Given the description of an element on the screen output the (x, y) to click on. 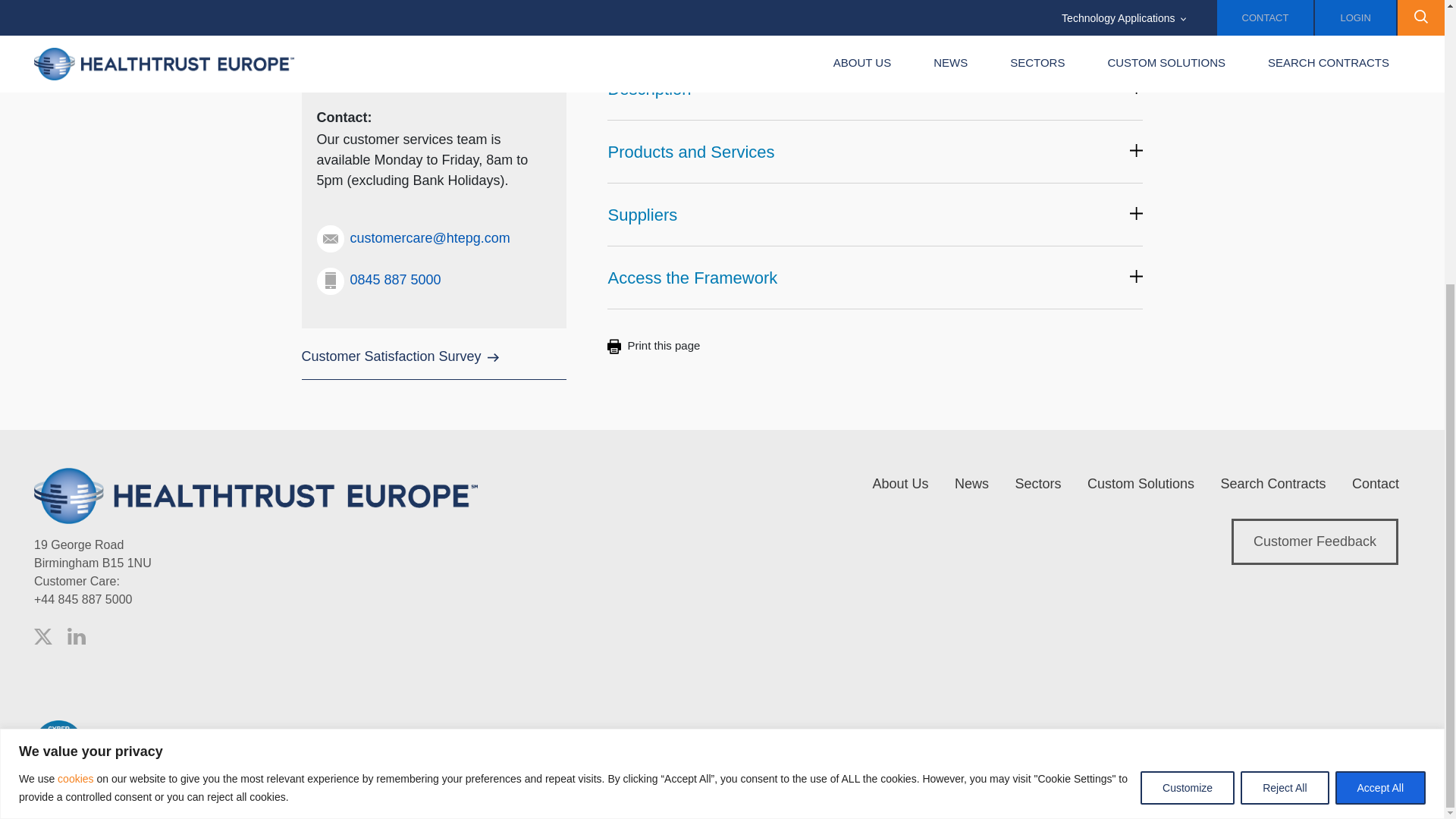
Customize (1187, 359)
Reject All (1283, 359)
Accept All (1380, 359)
cookies (74, 350)
